Given the description of an element on the screen output the (x, y) to click on. 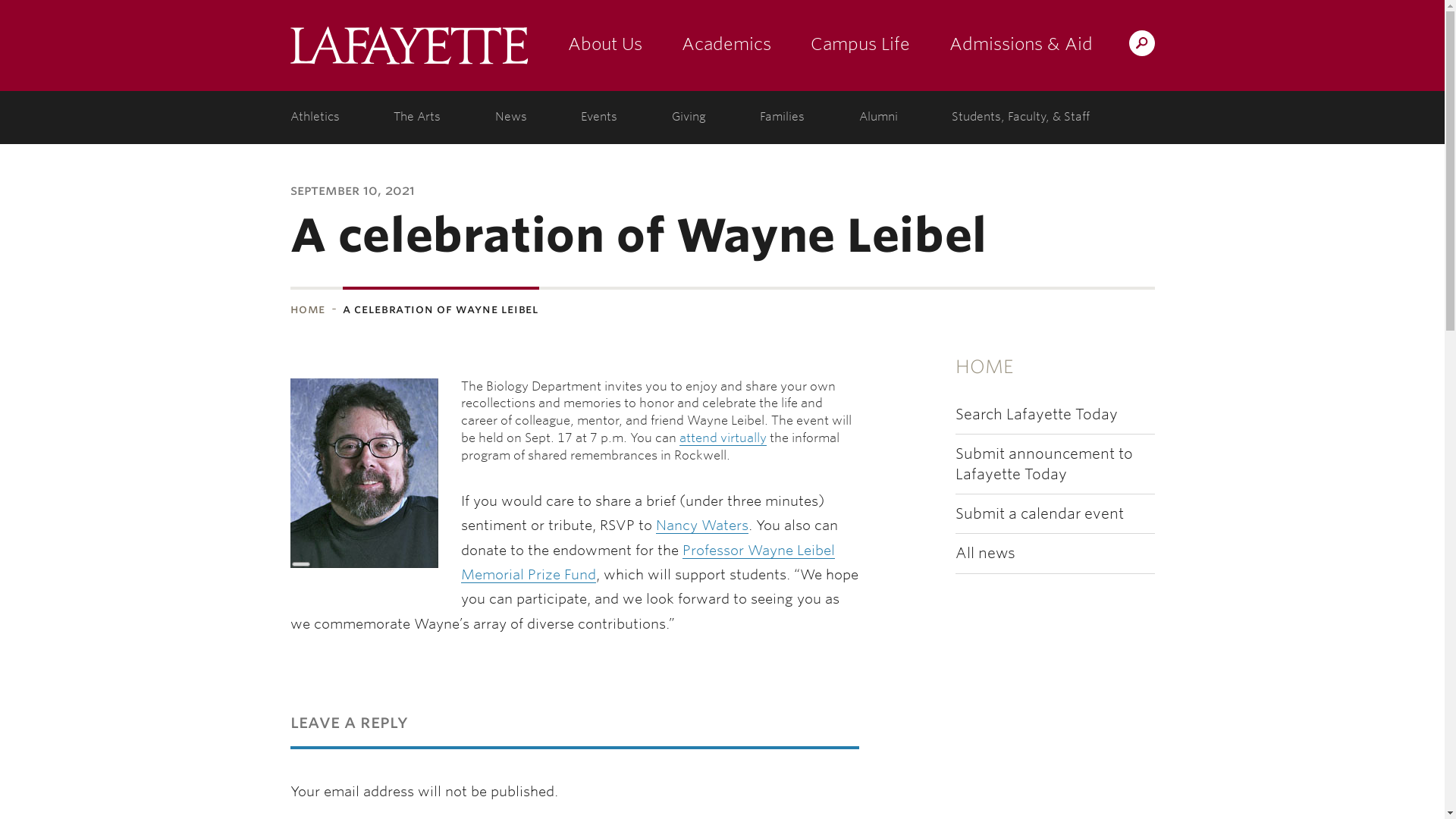
Lafayette College (408, 45)
Campus Life (859, 45)
Search Lafayette.edu (1141, 43)
About Us (603, 45)
Search (842, 42)
Academics (725, 45)
